Given the description of an element on the screen output the (x, y) to click on. 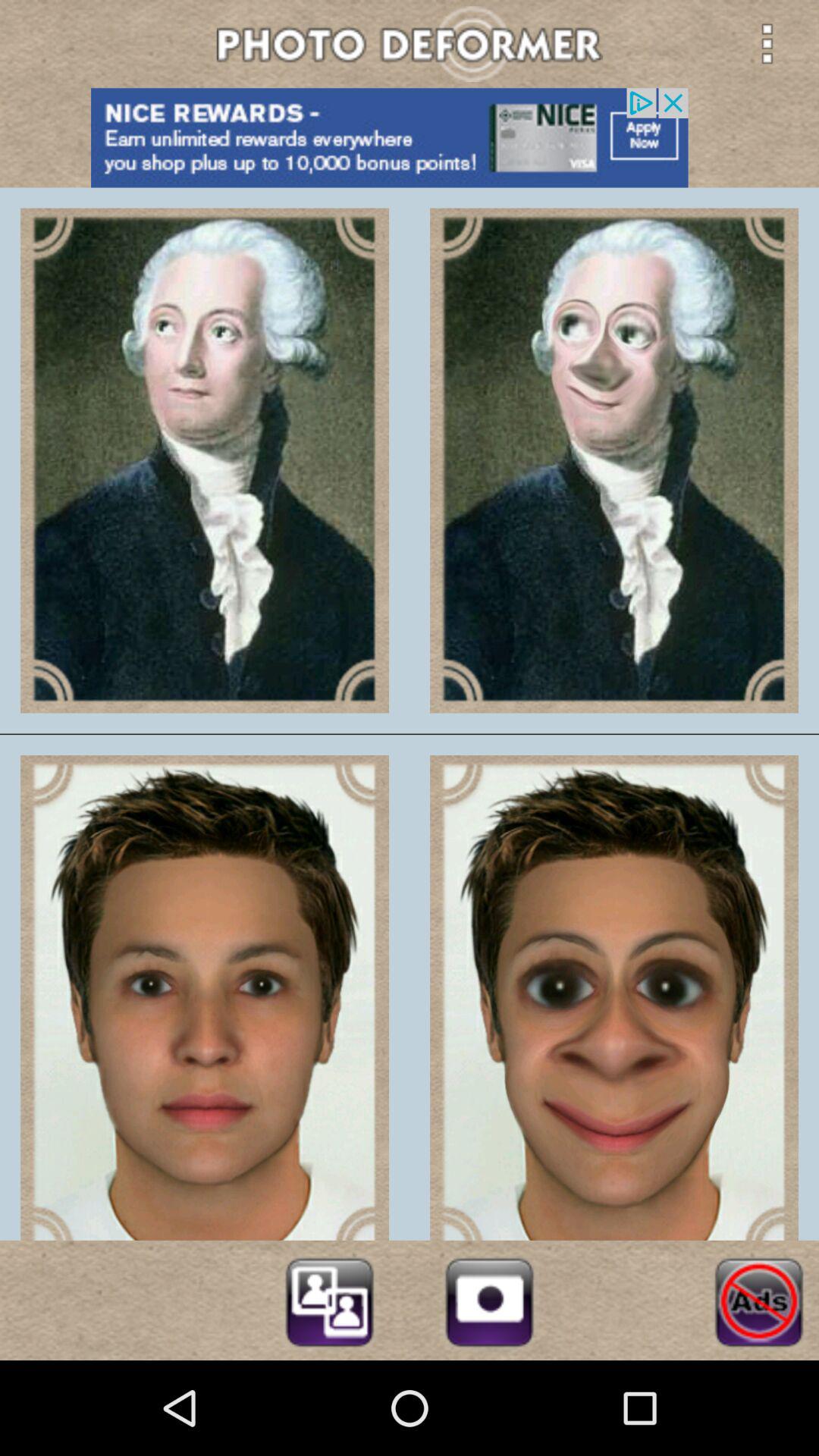
menu button (767, 43)
